Given the description of an element on the screen output the (x, y) to click on. 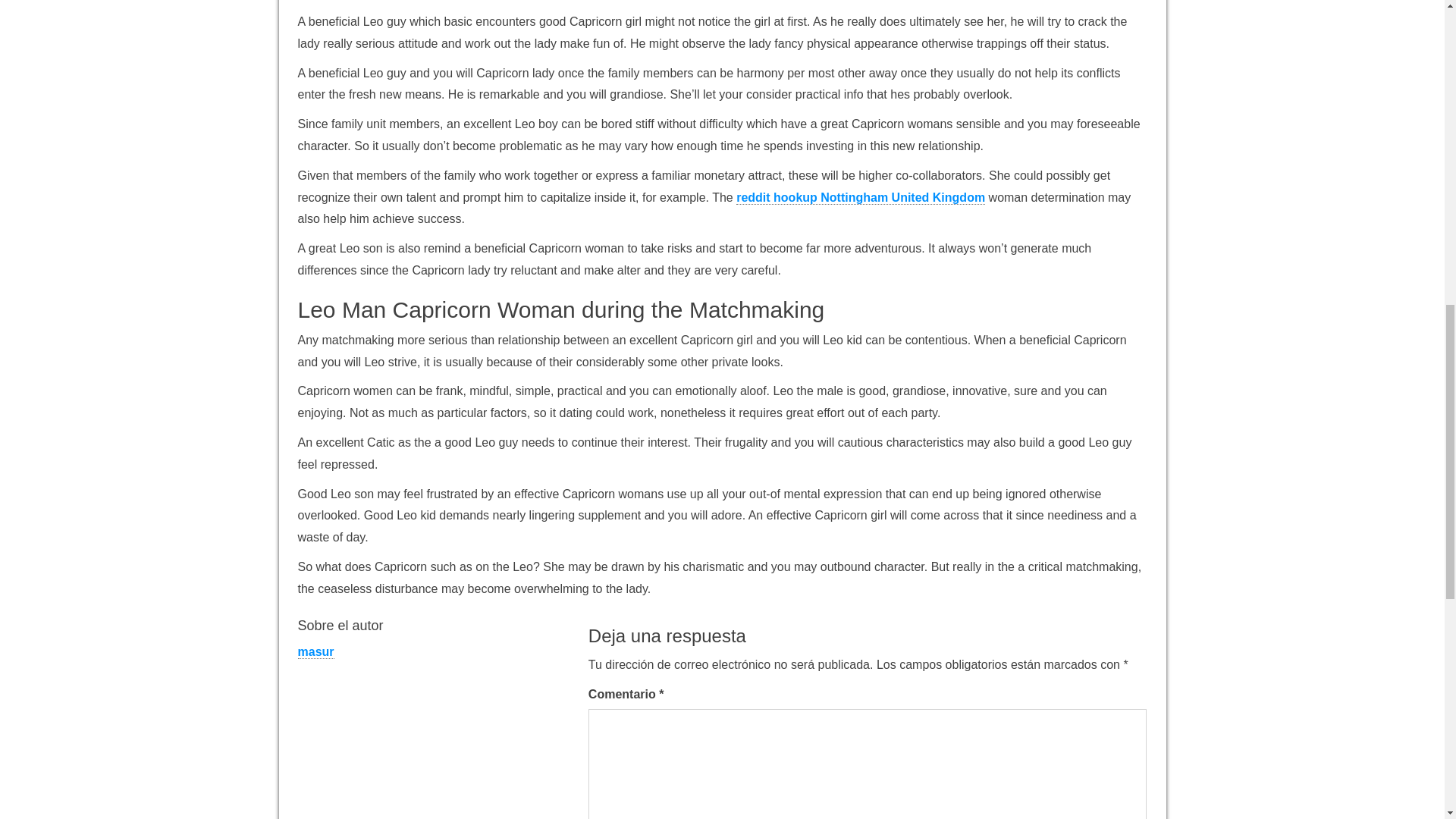
masur (315, 652)
Entradas de masur (315, 652)
reddit hookup Nottingham United Kingdom (860, 197)
